Given the description of an element on the screen output the (x, y) to click on. 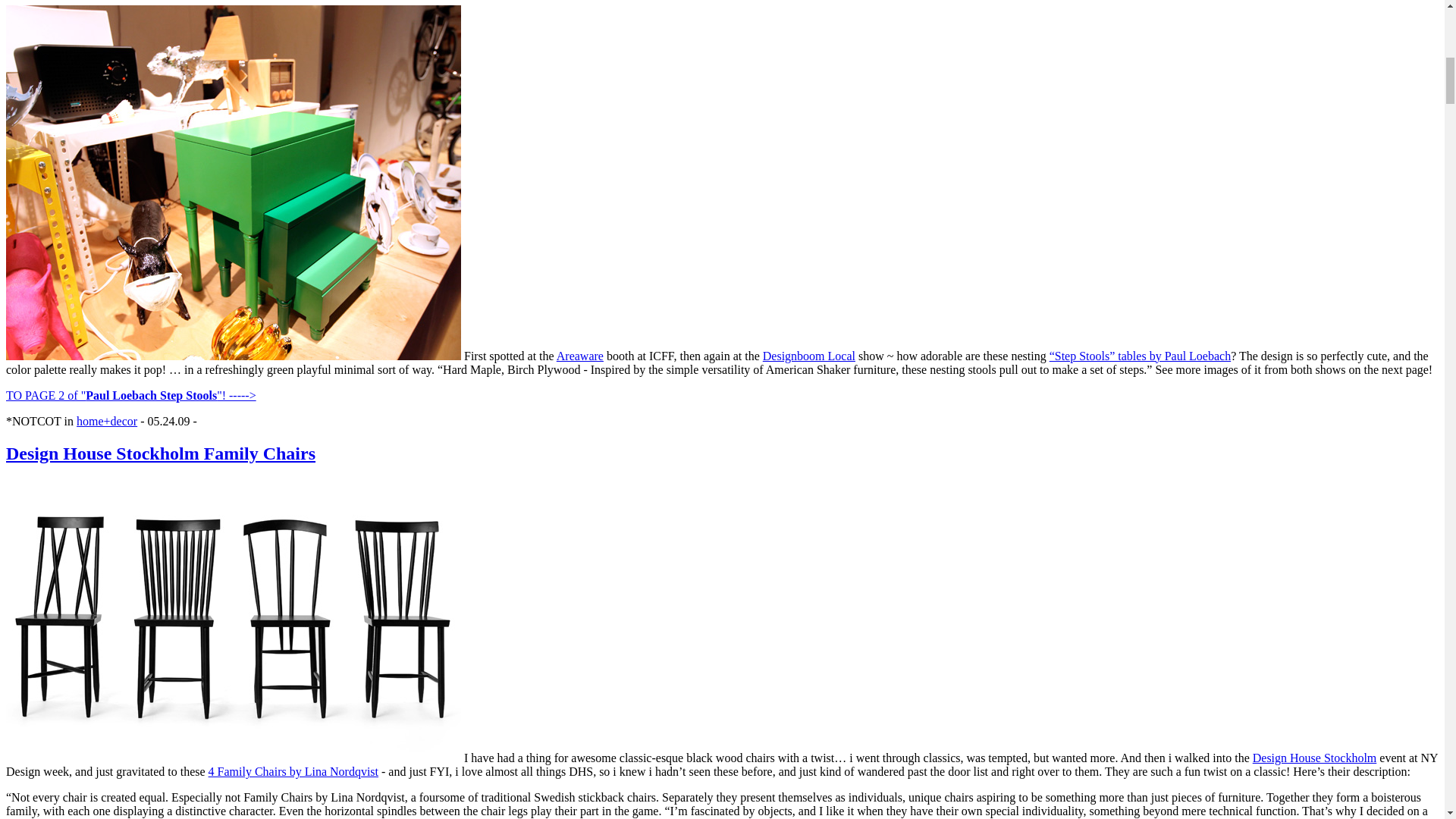
Areaware (580, 355)
Design House Stockholm Family Chairs (160, 453)
Design House Stockholm (1314, 757)
4 Family Chairs by Lina Nordqvist (293, 771)
Designboom Local (809, 355)
